Given the description of an element on the screen output the (x, y) to click on. 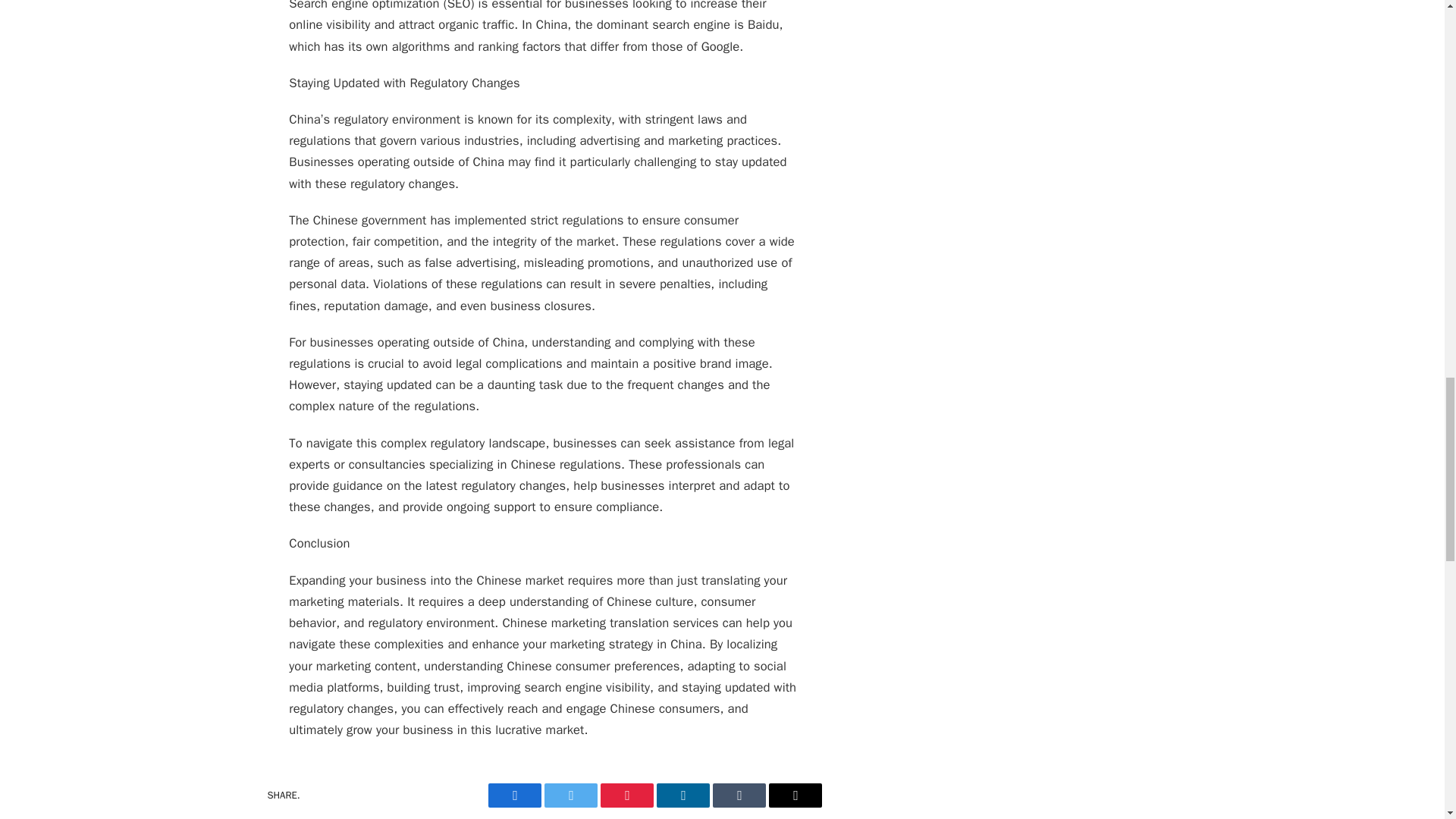
LinkedIn (683, 794)
Email (795, 794)
Pinterest (626, 794)
Twitter (570, 794)
Share on Pinterest (626, 794)
Facebook (514, 794)
Share on Facebook (514, 794)
Share on LinkedIn (683, 794)
Tumblr (739, 794)
